Given the description of an element on the screen output the (x, y) to click on. 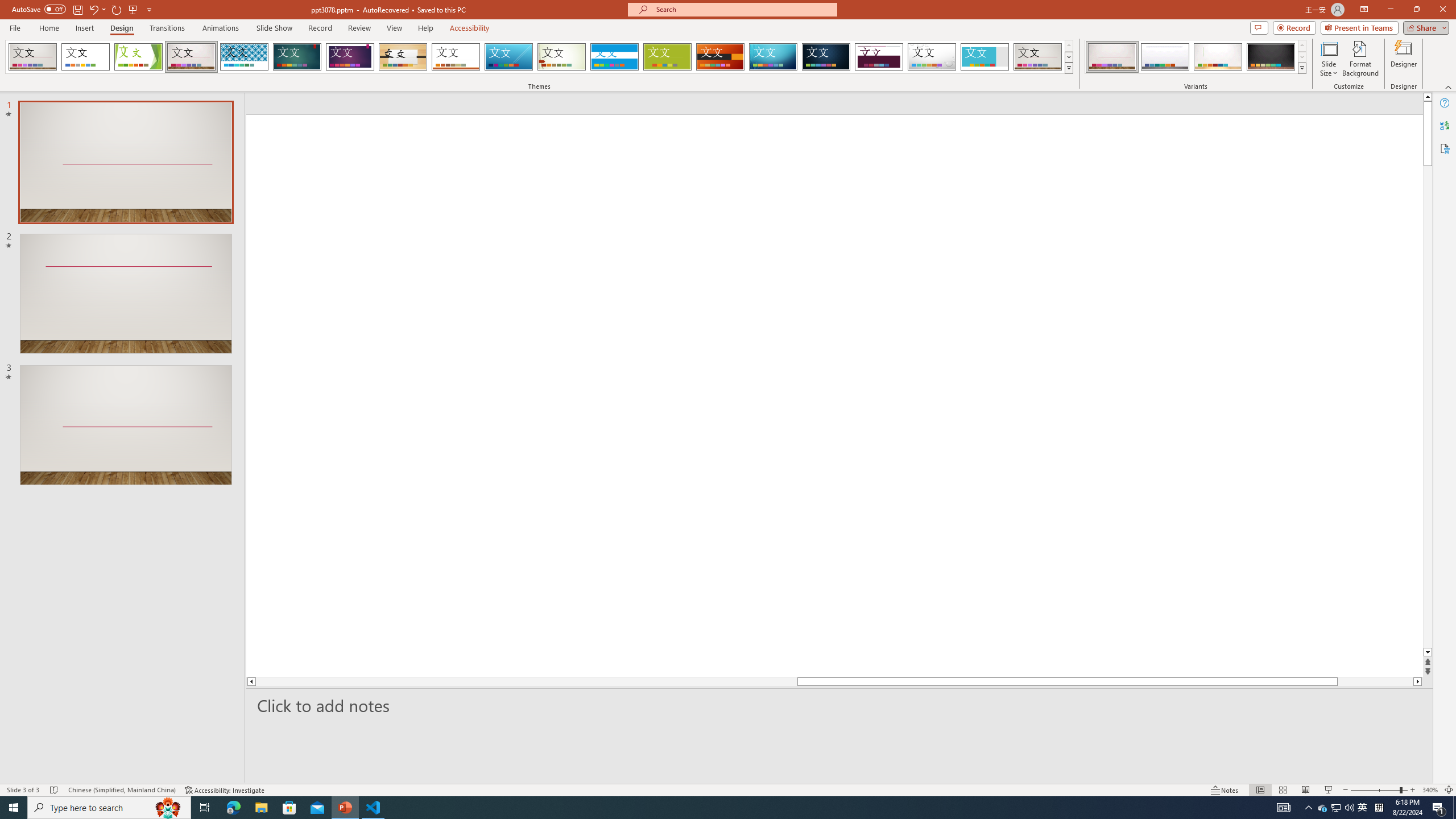
Format Background (1360, 58)
Themes (1068, 67)
Slide Size (1328, 58)
Facet (138, 56)
